Given the description of an element on the screen output the (x, y) to click on. 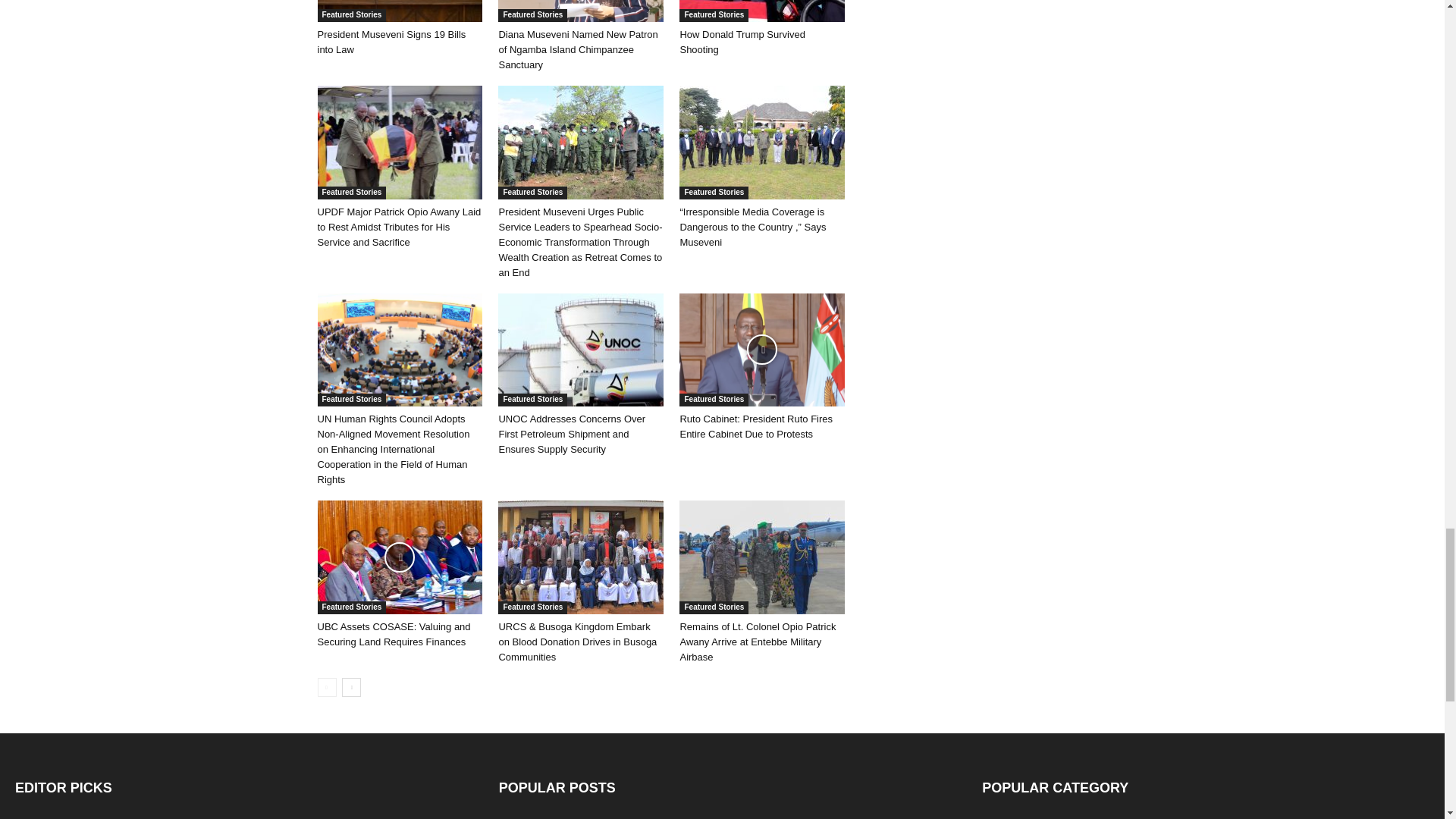
President Museveni Signs 19 Bills into Law (399, 11)
